Given the description of an element on the screen output the (x, y) to click on. 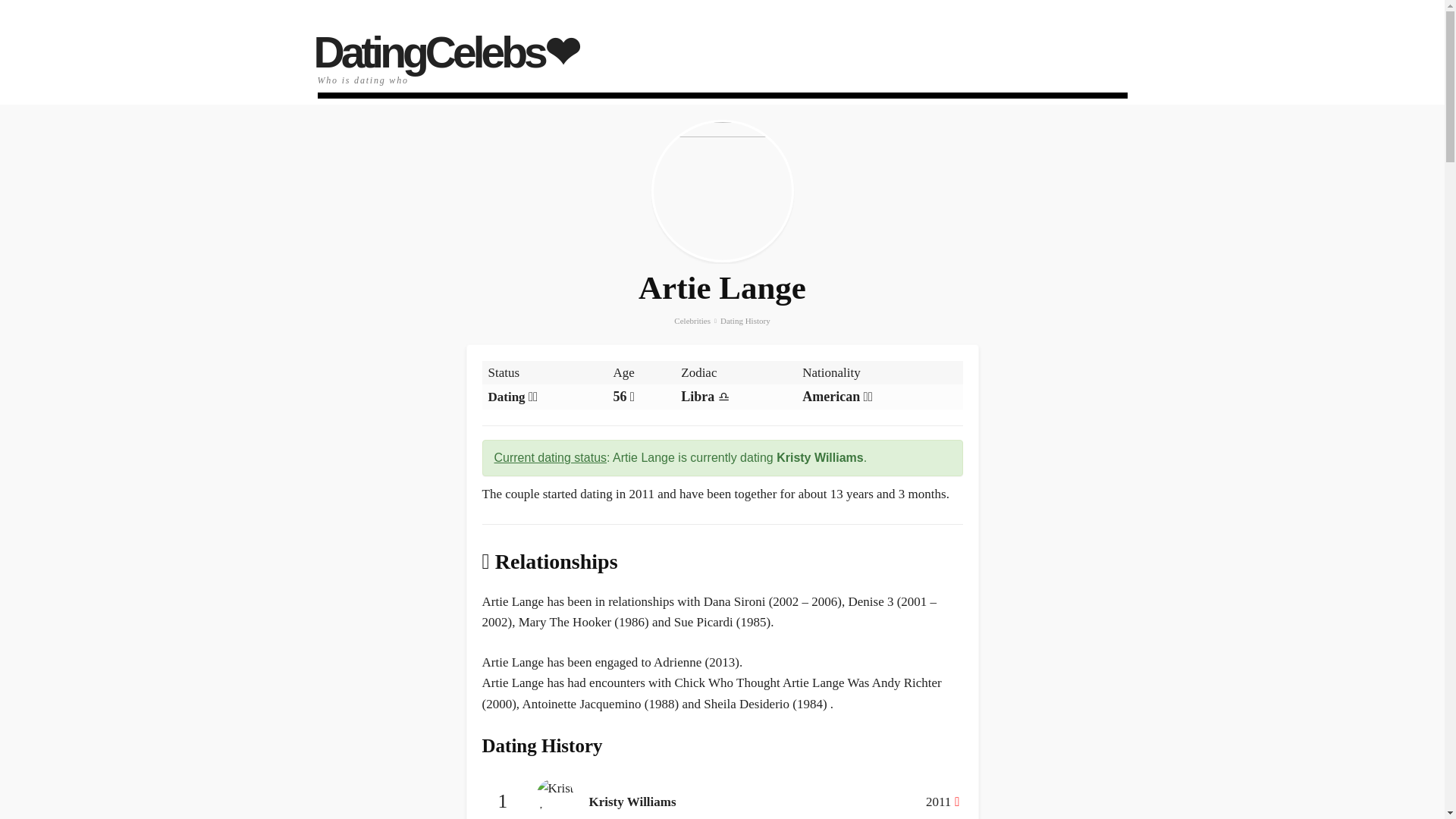
View all posts in Dating History (745, 320)
Celebrities (692, 320)
Dating History (745, 320)
